Given the description of an element on the screen output the (x, y) to click on. 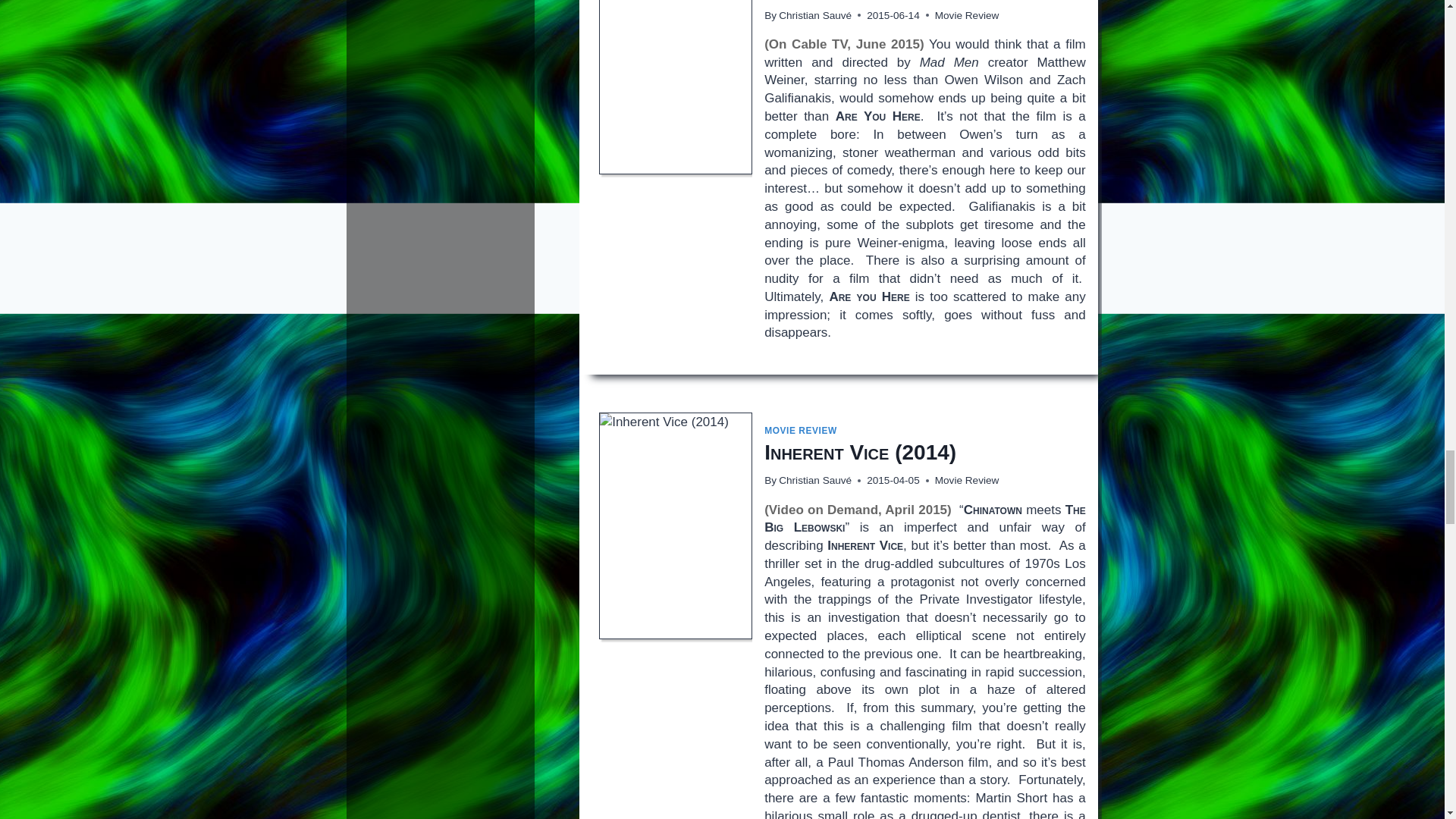
MOVIE REVIEW (800, 430)
Movie Review (966, 15)
Movie Review (966, 480)
